Given the description of an element on the screen output the (x, y) to click on. 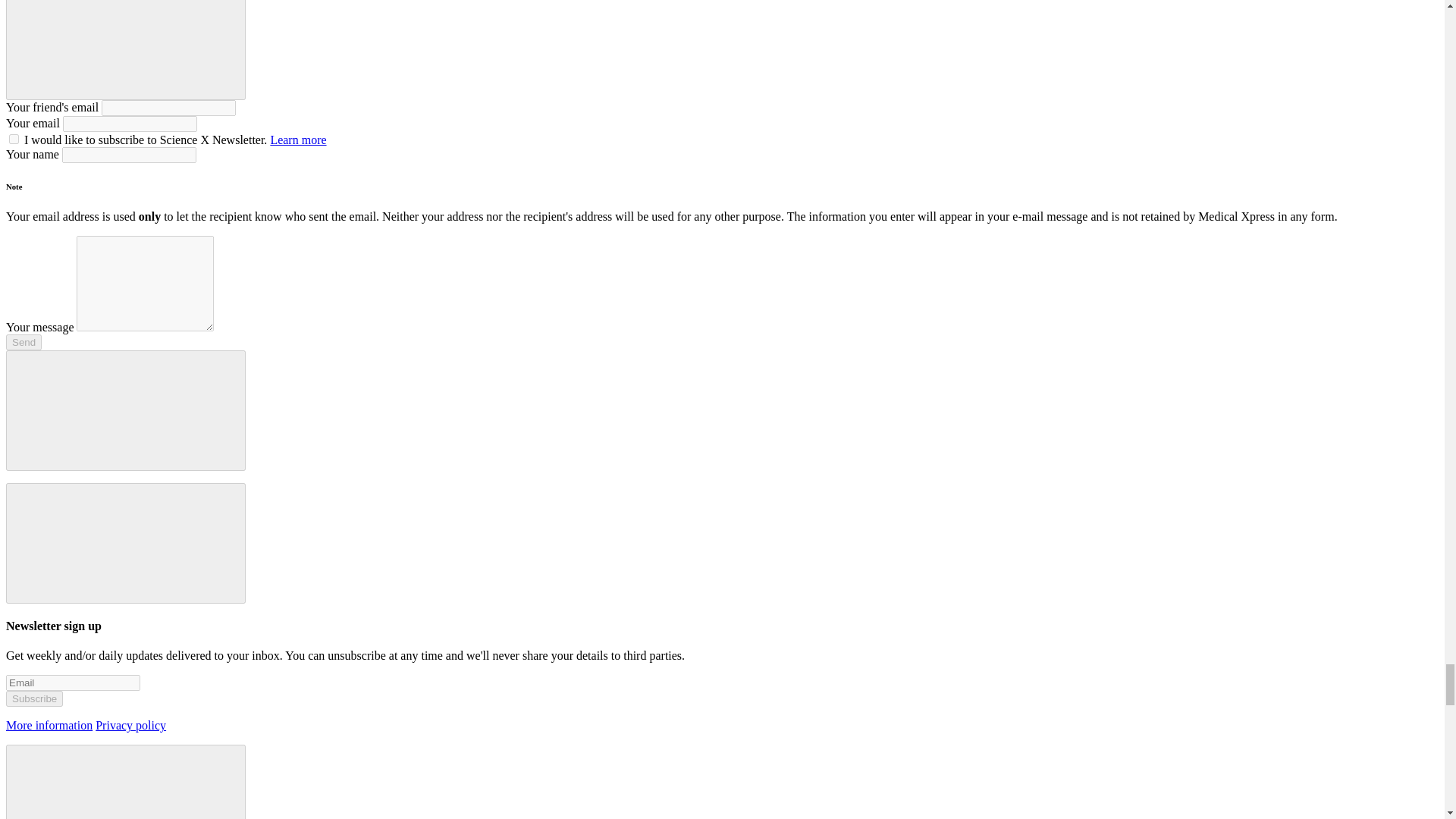
1 (13, 139)
